Given the description of an element on the screen output the (x, y) to click on. 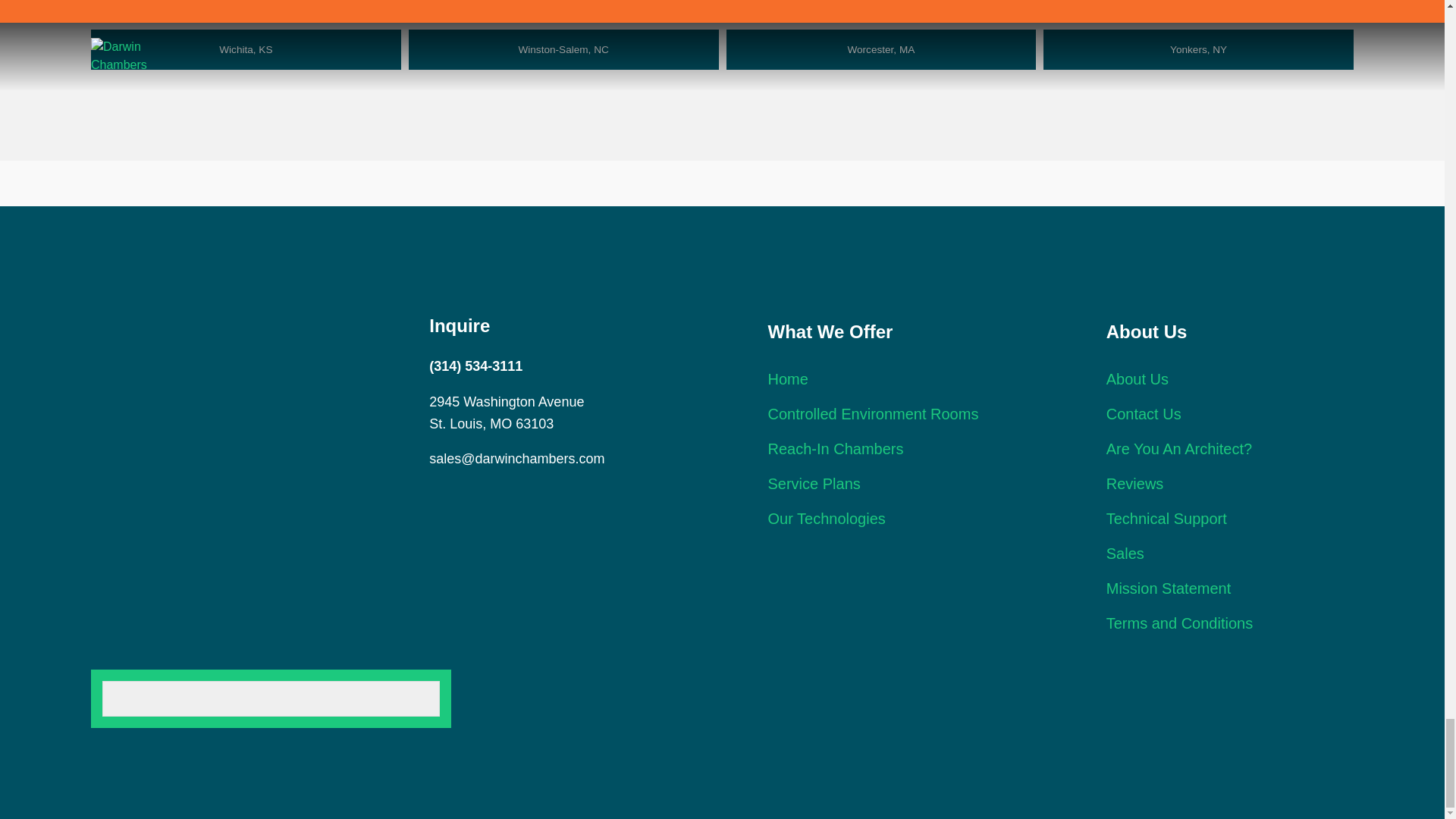
Reach-In Chambers (834, 448)
Sales (1125, 553)
Our Technologies (826, 518)
Service Plans (813, 483)
Home (787, 379)
Are You An Architect? (1179, 448)
Reviews (1134, 483)
About Us (1137, 379)
Contact Us (1143, 413)
Technical Support (1166, 518)
